Given the description of an element on the screen output the (x, y) to click on. 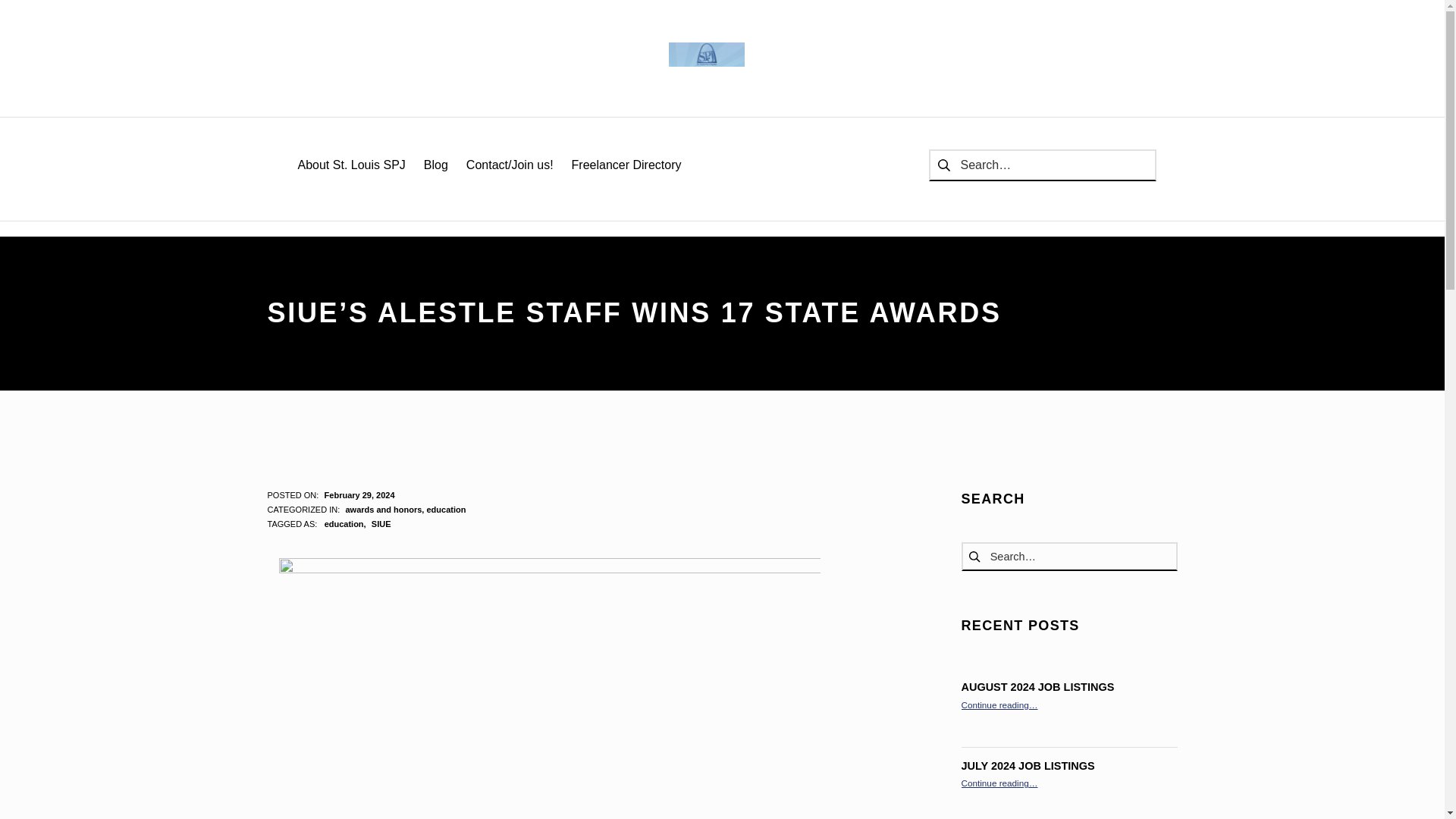
awards and honors (383, 509)
February 29, 2024 (359, 494)
Search (16, 15)
AUGUST 2024 JOB LISTINGS (1037, 686)
Posted on: February 29, 2024 (359, 494)
Blog (435, 165)
Search (16, 14)
ST. LOUIS SOCIETY OF PROFESSIONAL JOURNALISTS (706, 54)
JULY 2024 JOB LISTINGS (1027, 766)
education (445, 509)
